Given the description of an element on the screen output the (x, y) to click on. 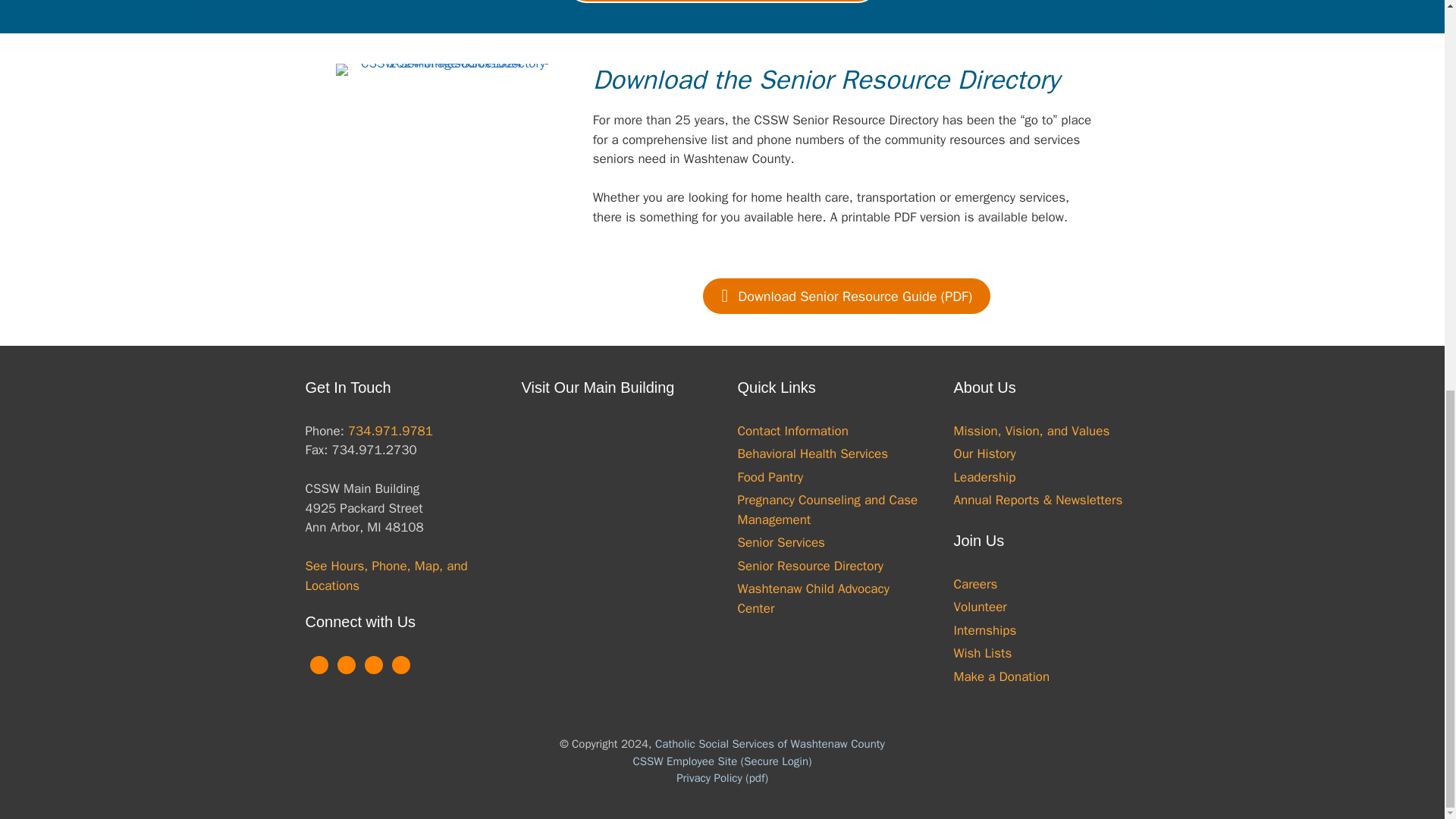
Scroll back to top (1406, 794)
CSSW-Senior-Resource-Directory-2024-Image-830x1024 (448, 69)
